Given the description of an element on the screen output the (x, y) to click on. 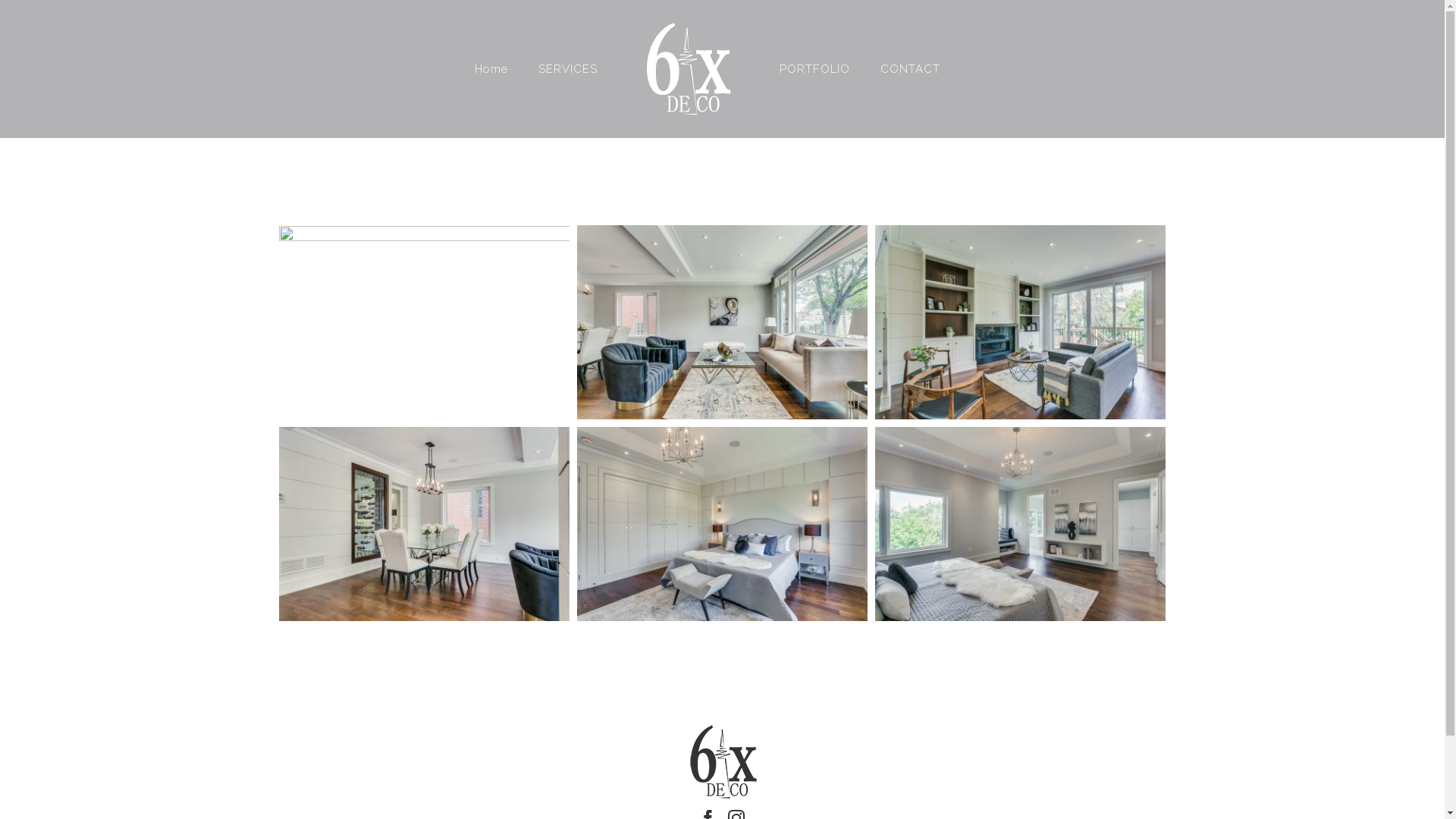
534douglasave-015 Element type: hover (424, 523)
534douglasave-021 Element type: hover (1020, 322)
534douglasave-045 Element type: hover (1020, 523)
PORTFOLIO Element type: text (814, 68)
Home Element type: text (491, 68)
SERVICES Element type: text (567, 68)
534douglasave-012 Element type: hover (721, 322)
534douglasave-043 Element type: hover (721, 523)
534douglasave-013 Element type: hover (424, 321)
CONTACT Element type: text (909, 68)
